Given the description of an element on the screen output the (x, y) to click on. 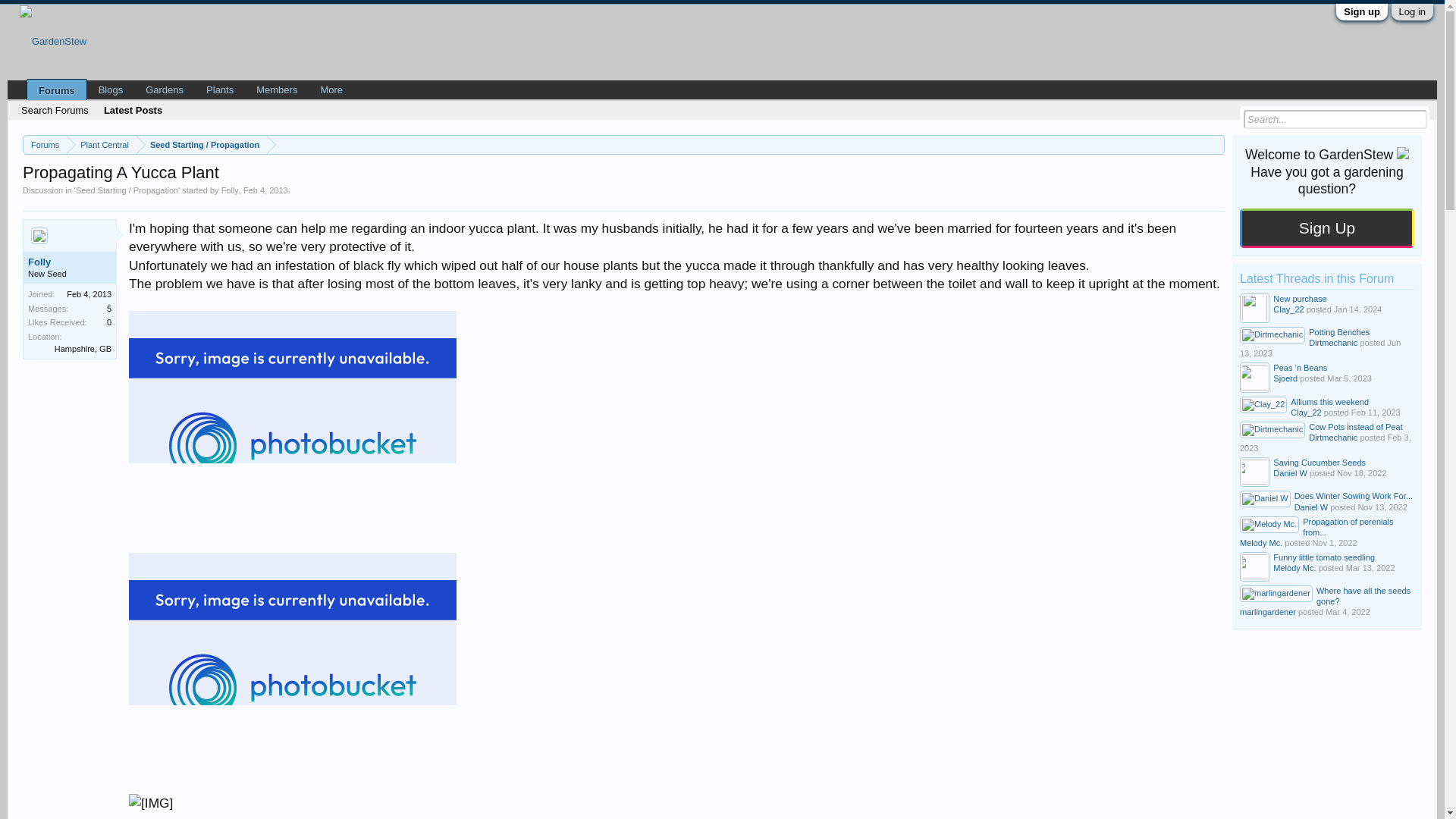
Sign up (1361, 11)
Feb 4, 2013 at 12:50 PM (265, 189)
Log in (1412, 11)
Feb 4, 2013 (265, 189)
Plant Central (101, 144)
Hampshire, GB (83, 347)
Folly (69, 262)
Forums (44, 144)
Open quick navigation (1214, 144)
Folly (229, 189)
